Given the description of an element on the screen output the (x, y) to click on. 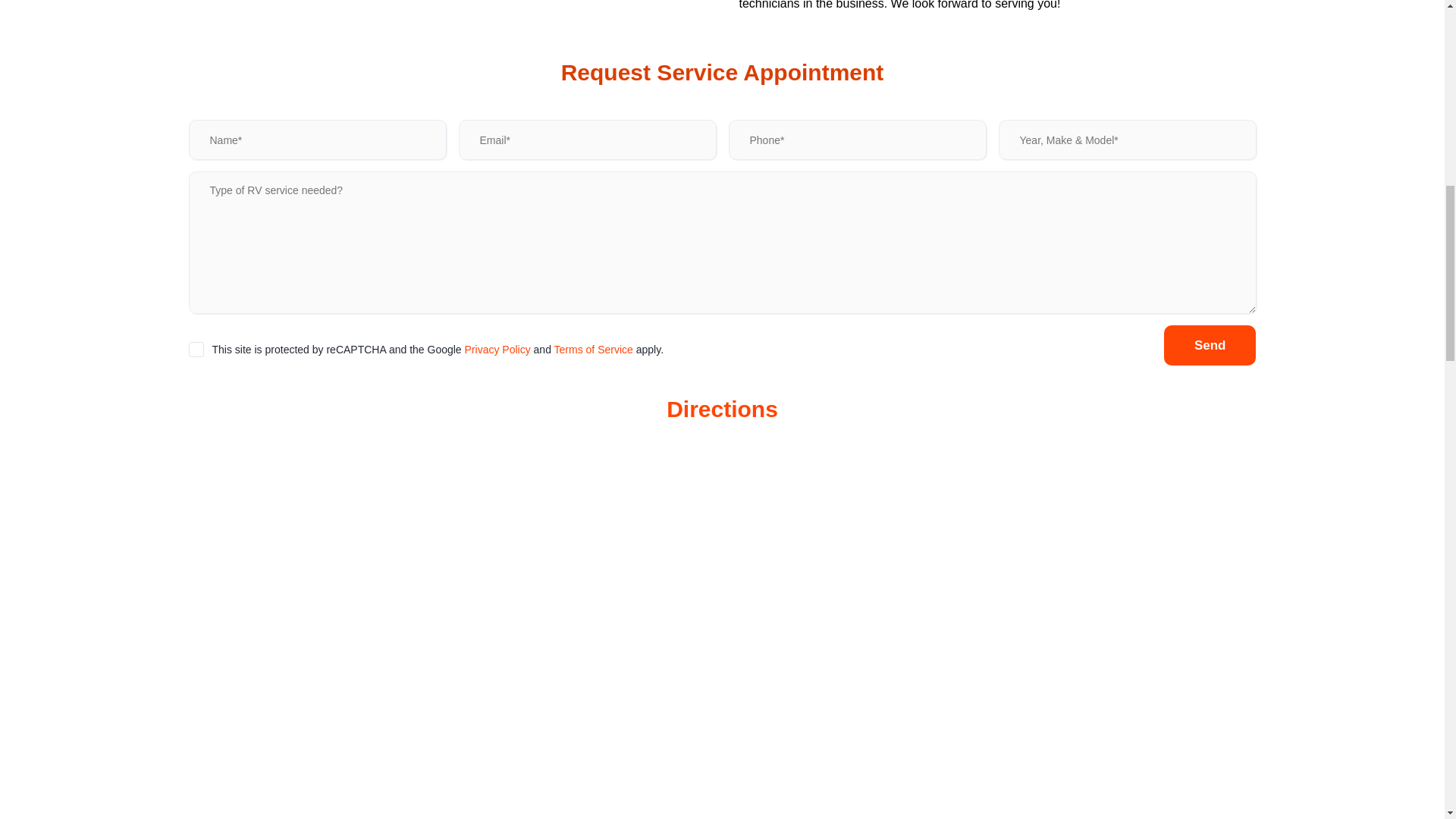
Send (1209, 345)
Terms of Service (593, 348)
Privacy Policy (497, 348)
